Given the description of an element on the screen output the (x, y) to click on. 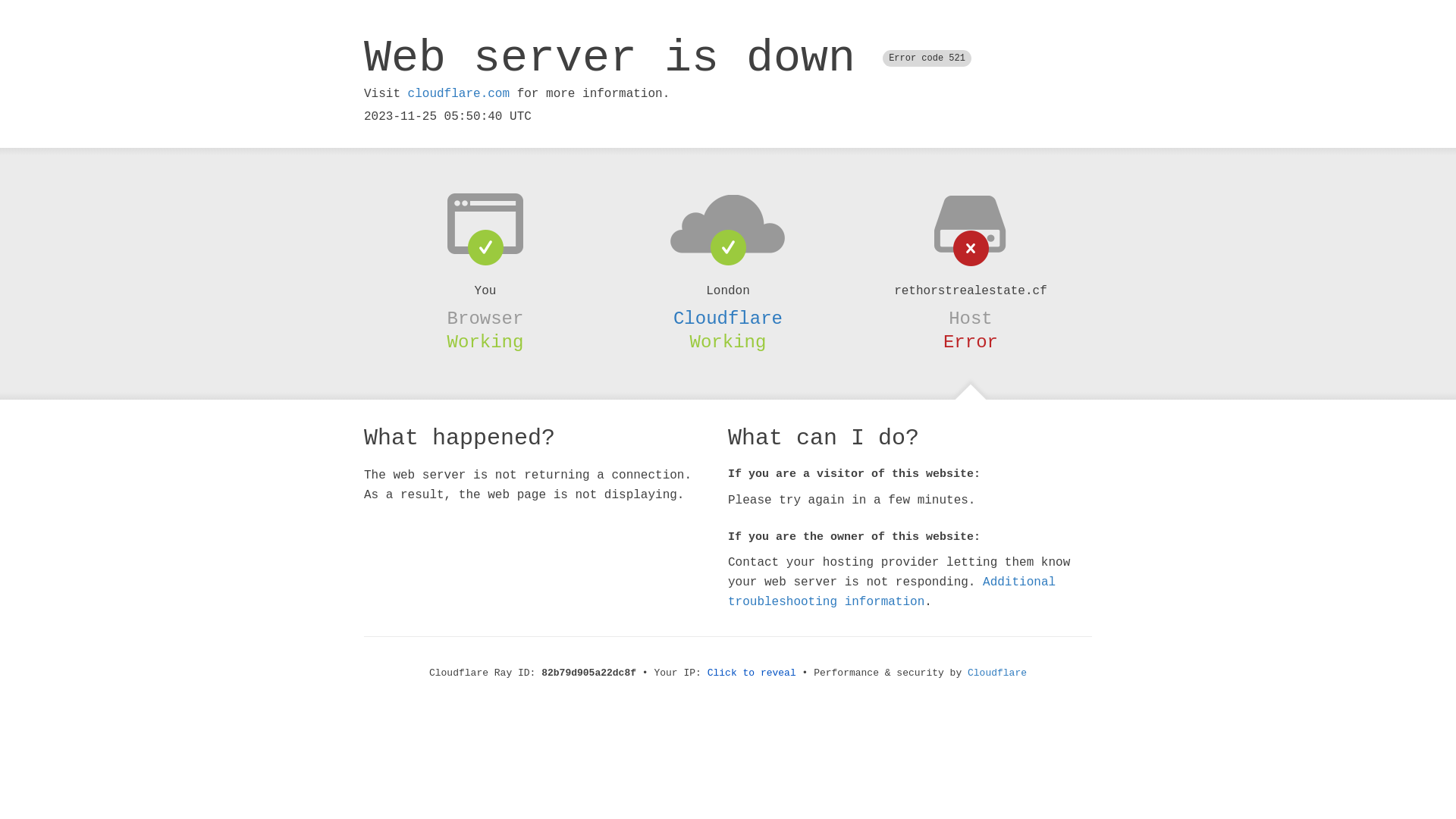
cloudflare.com Element type: text (458, 93)
Cloudflare Element type: text (996, 672)
Additional troubleshooting information Element type: text (891, 591)
Cloudflare Element type: text (727, 318)
Click to reveal Element type: text (751, 672)
